Given the description of an element on the screen output the (x, y) to click on. 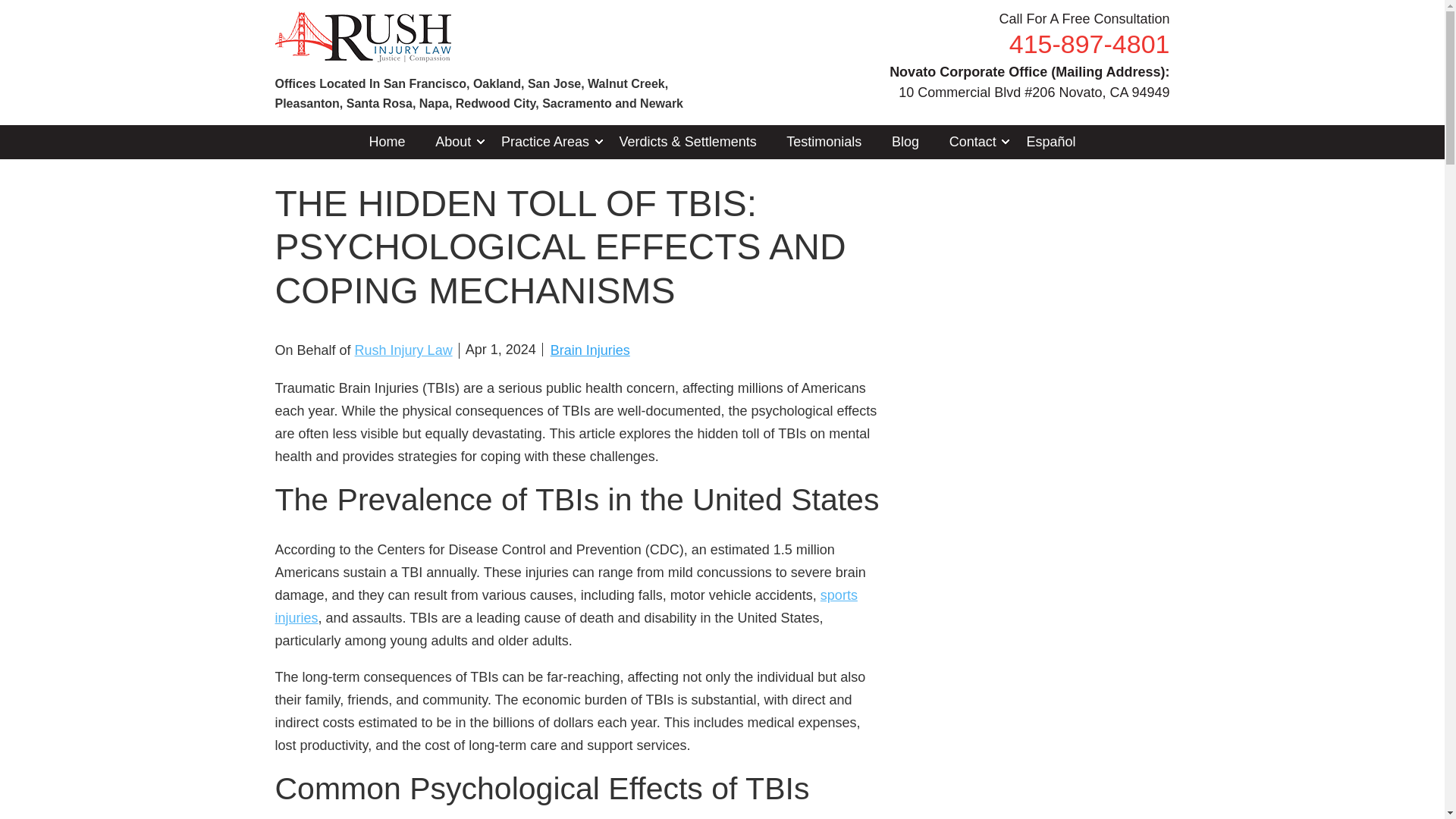
Contact (972, 141)
Practice Areas (544, 141)
Blog (904, 141)
415-897-4801 (1089, 43)
Testimonials (824, 141)
About (453, 141)
Home (387, 141)
